Given the description of an element on the screen output the (x, y) to click on. 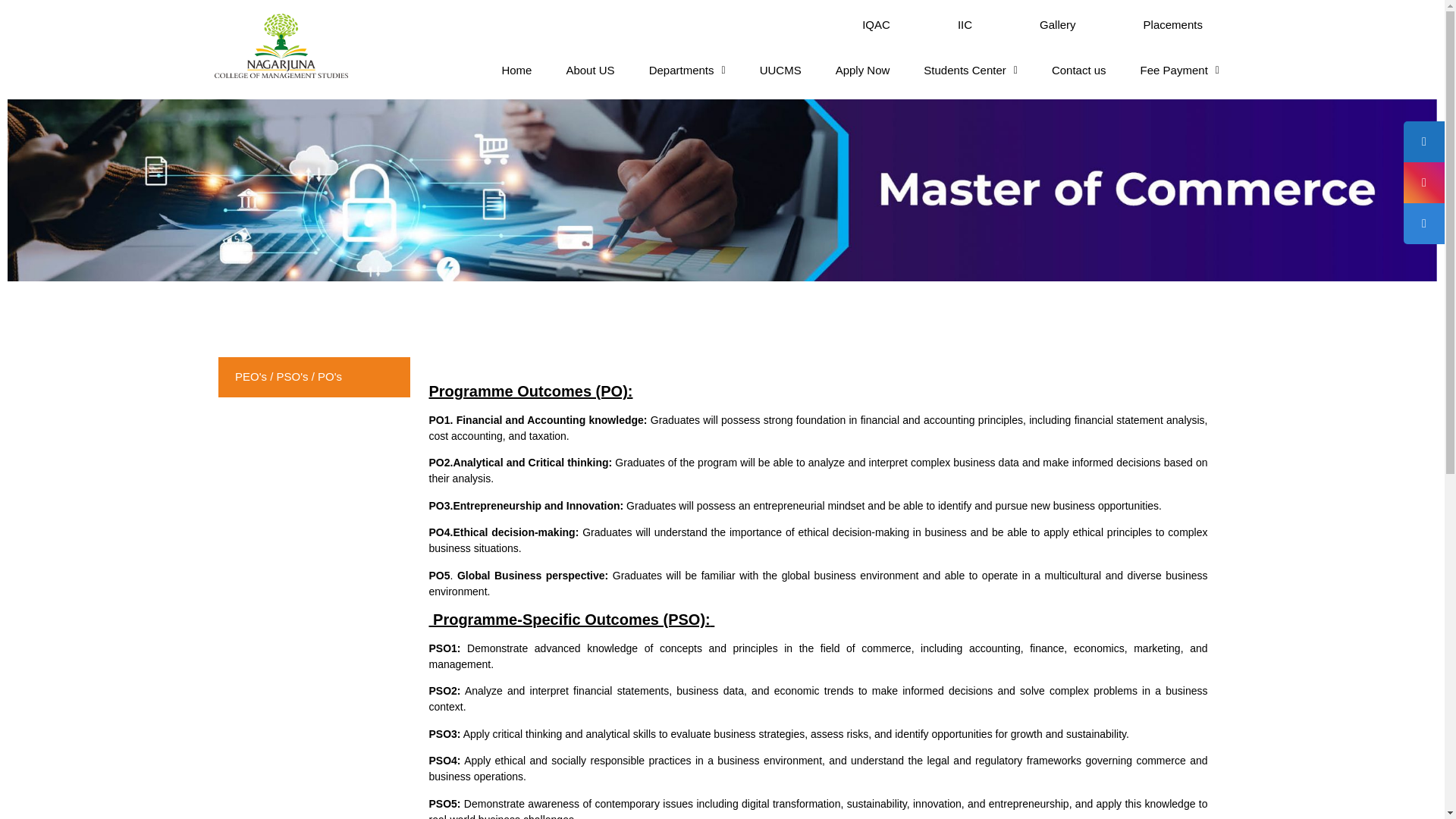
UUCMS (780, 69)
Home (515, 69)
IQAC (876, 24)
IIC (964, 24)
Apply Now (863, 69)
Gallery (1057, 24)
Departments (687, 69)
Students Center (970, 69)
Placements (1173, 24)
About US (589, 69)
